Given the description of an element on the screen output the (x, y) to click on. 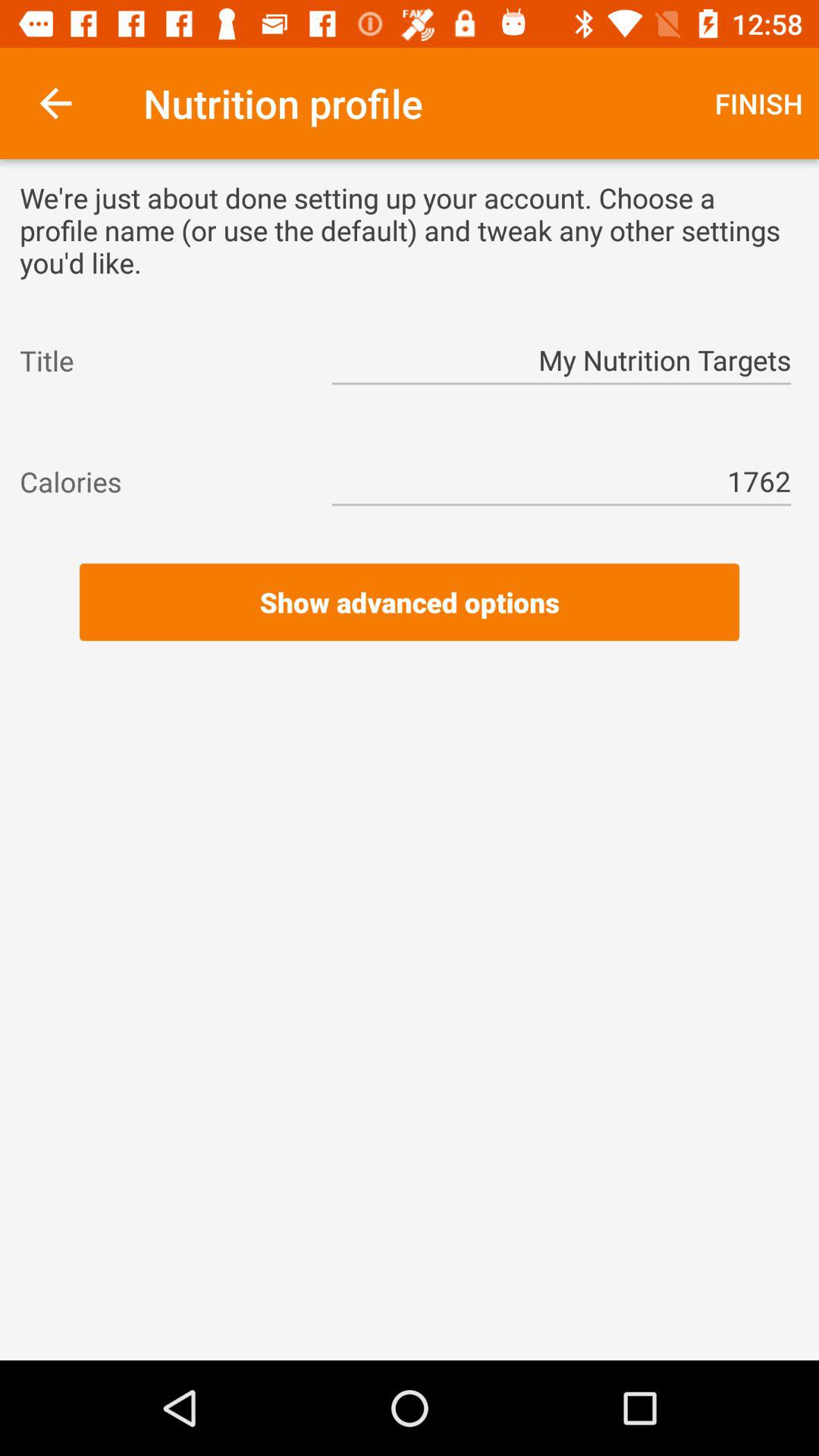
turn on the item above the we re just item (758, 103)
